Given the description of an element on the screen output the (x, y) to click on. 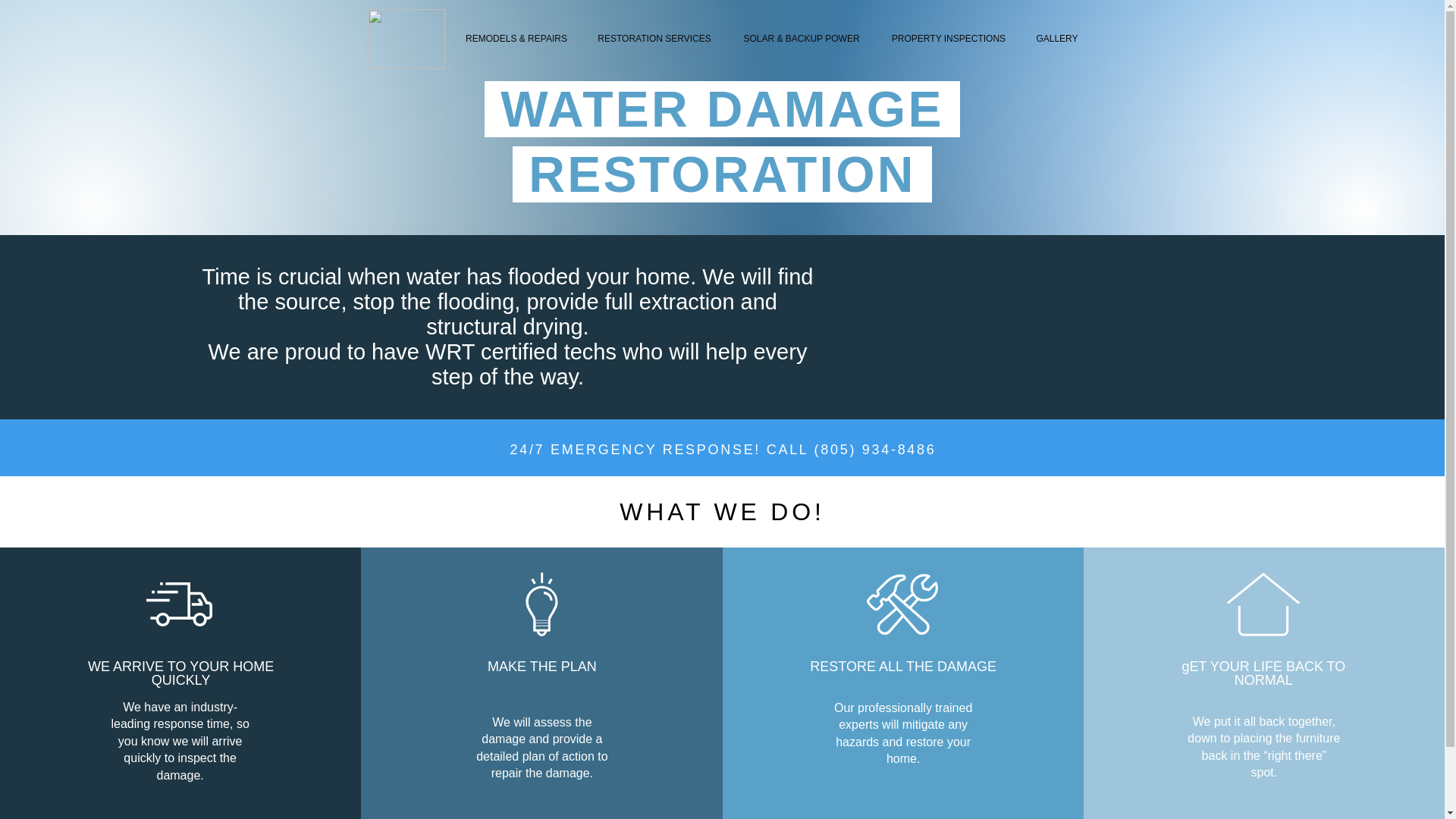
GALLERY (1057, 39)
RESTORATION SERVICES (653, 39)
PROPERTY INSPECTIONS (948, 39)
